Given the description of an element on the screen output the (x, y) to click on. 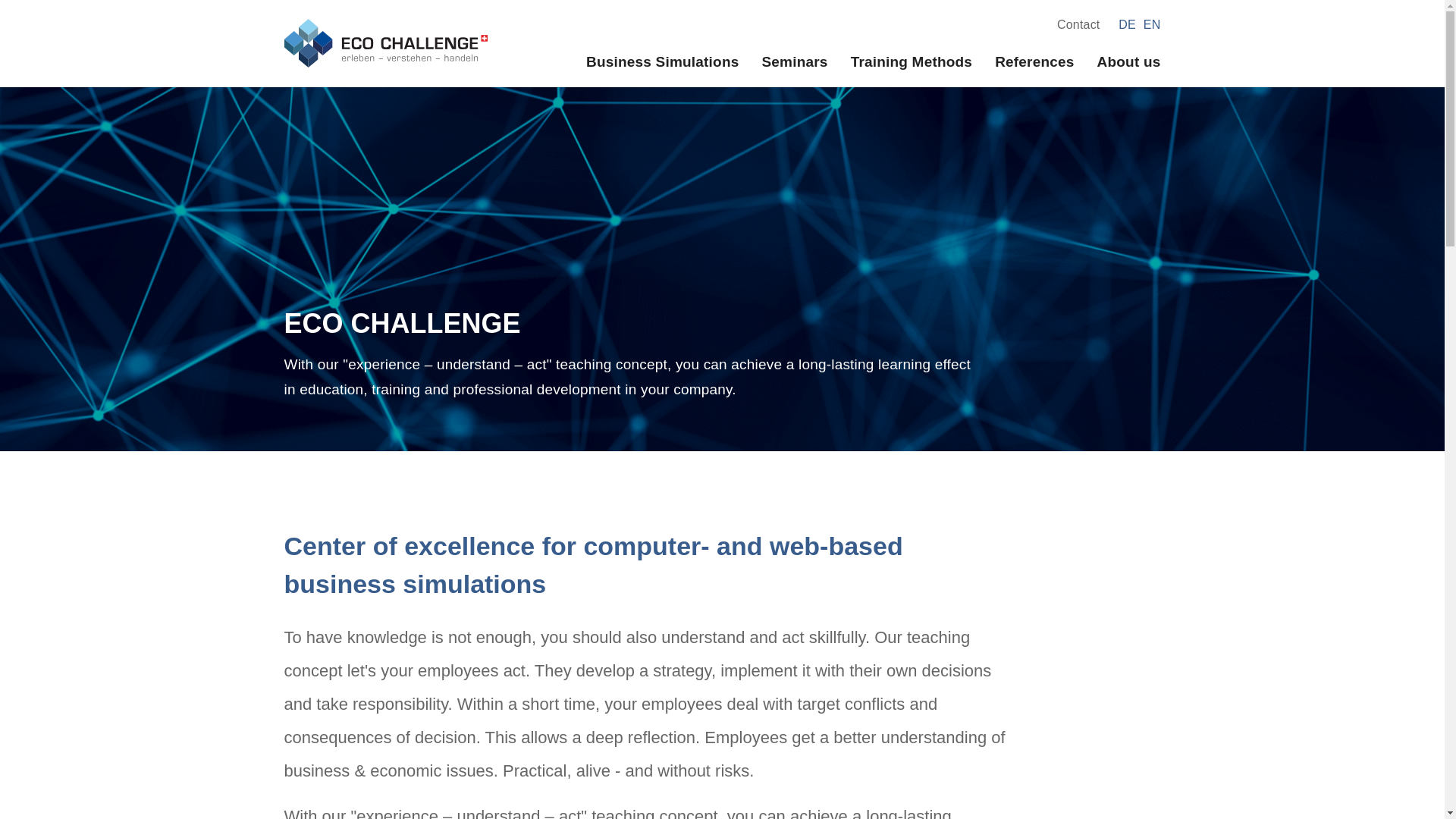
DE (1126, 24)
Seminars (794, 61)
Training Methods (911, 61)
Contact (1078, 24)
About us (1128, 61)
Business Simulations (662, 61)
EN (1151, 24)
References (1034, 61)
